Given the description of an element on the screen output the (x, y) to click on. 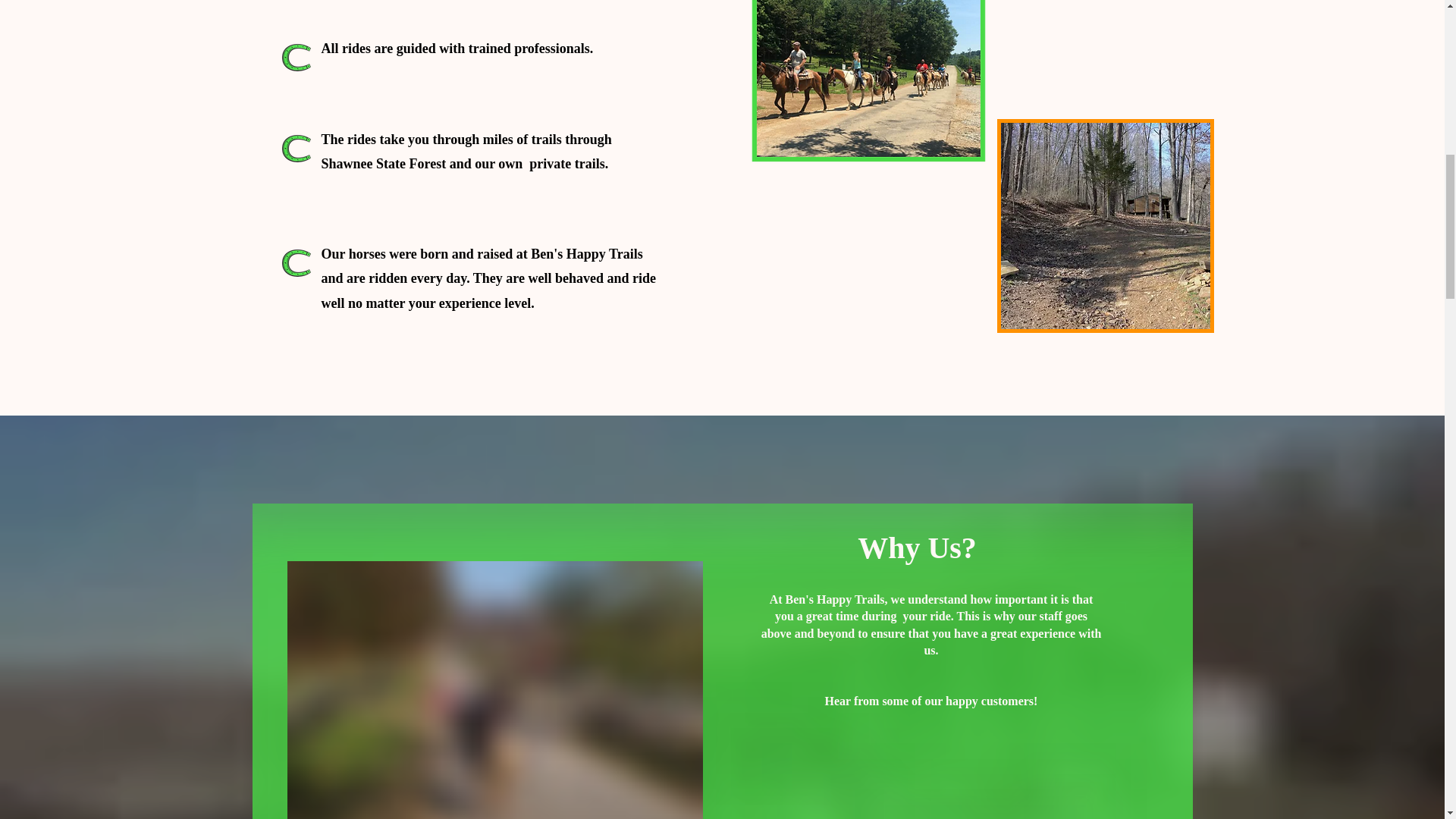
3000x3000-3.png (296, 148)
3000x3000-3.png (296, 57)
3000x3000-3.png (296, 262)
